Given the description of an element on the screen output the (x, y) to click on. 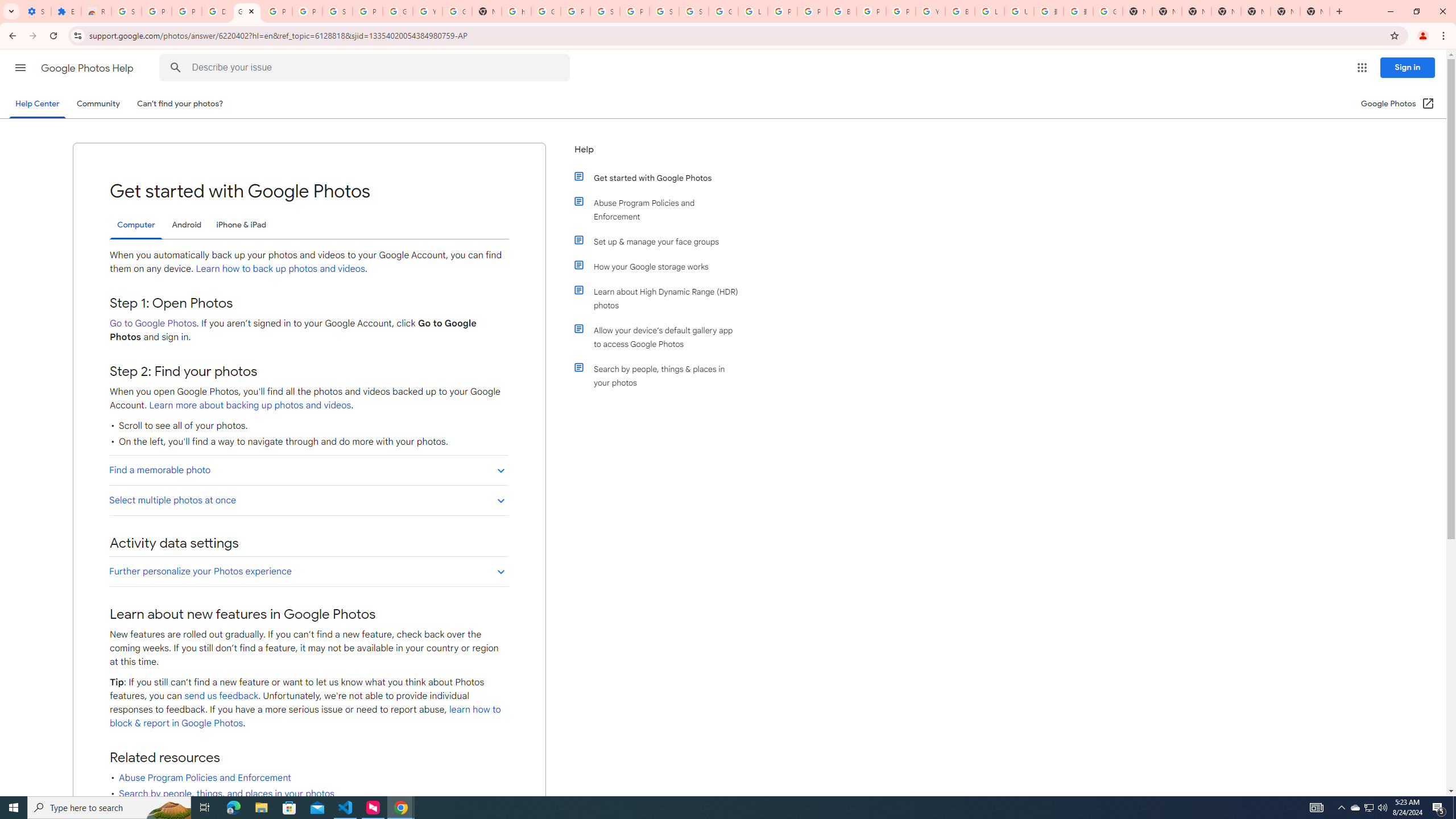
How your Google storage works (661, 266)
Search by people, things & places in your photos (661, 375)
Describe your issue (366, 67)
Google Images (1107, 11)
New Tab (1314, 11)
Search by people, things, and places in your photos (226, 793)
Computer (136, 225)
Help Center (36, 103)
Community (97, 103)
Privacy Help Center - Policies Help (811, 11)
